Given the description of an element on the screen output the (x, y) to click on. 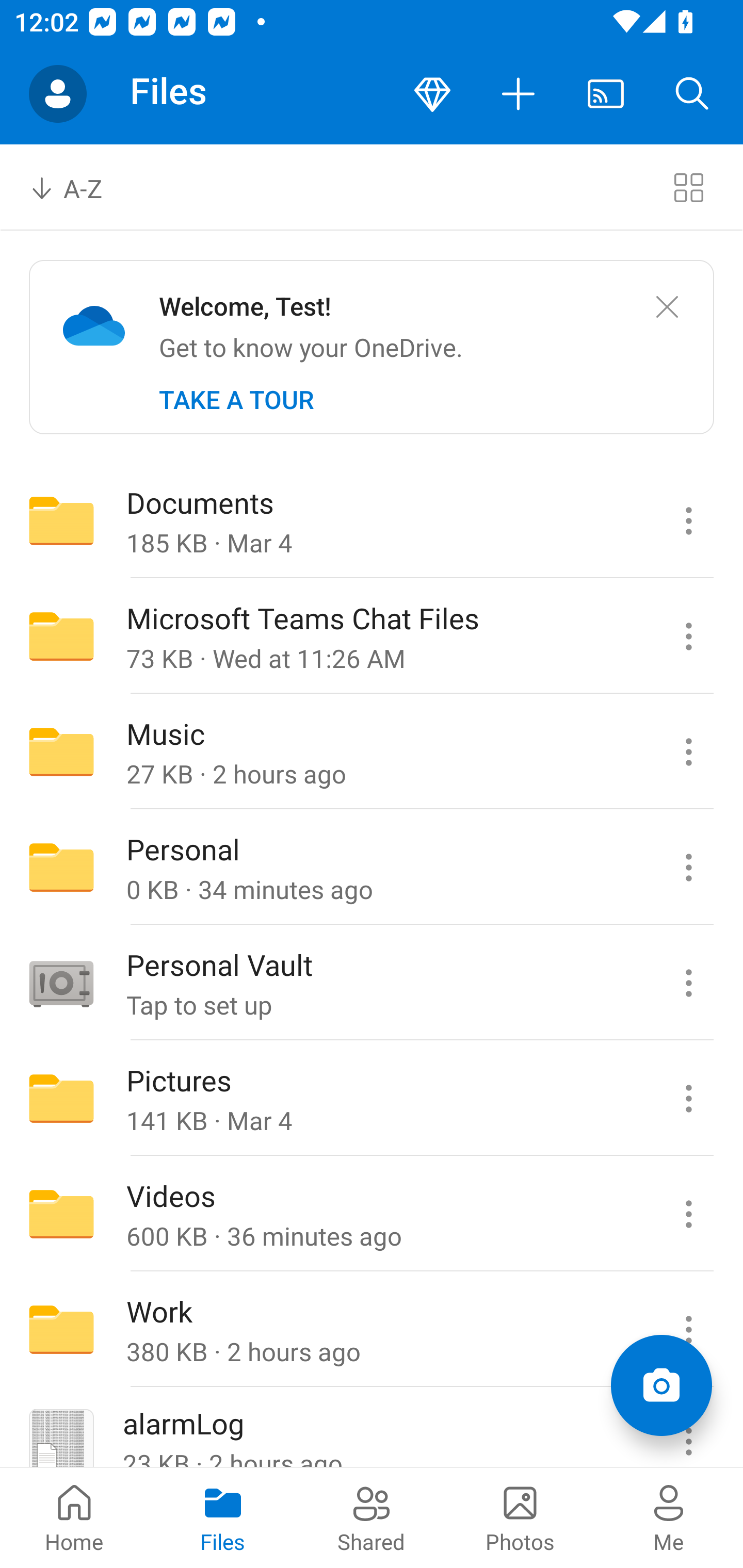
Account switcher (57, 93)
Cast. Disconnected (605, 93)
Premium button (432, 93)
More actions button (518, 93)
Search button (692, 93)
A-Z Sort by combo box, sort by name, A to Z (80, 187)
Switch to tiles view (688, 187)
Close (667, 307)
TAKE A TOUR (236, 399)
Folder Documents 185 KB · Mar 4 Documents commands (371, 520)
Documents commands (688, 520)
Microsoft Teams Chat Files commands (688, 636)
Folder Music 27 KB · 2 hours ago Music commands (371, 751)
Music commands (688, 751)
Personal commands (688, 867)
Personal Vault commands (688, 983)
Folder Pictures 141 KB · Mar 4 Pictures commands (371, 1099)
Pictures commands (688, 1099)
Videos commands (688, 1214)
Folder Work 380 KB · 2 hours ago Work commands (371, 1329)
Work commands (688, 1329)
Add items Scan (660, 1385)
alarmLog commands (688, 1427)
Home pivot Home (74, 1517)
Shared pivot Shared (371, 1517)
Photos pivot Photos (519, 1517)
Me pivot Me (668, 1517)
